Given the description of an element on the screen output the (x, y) to click on. 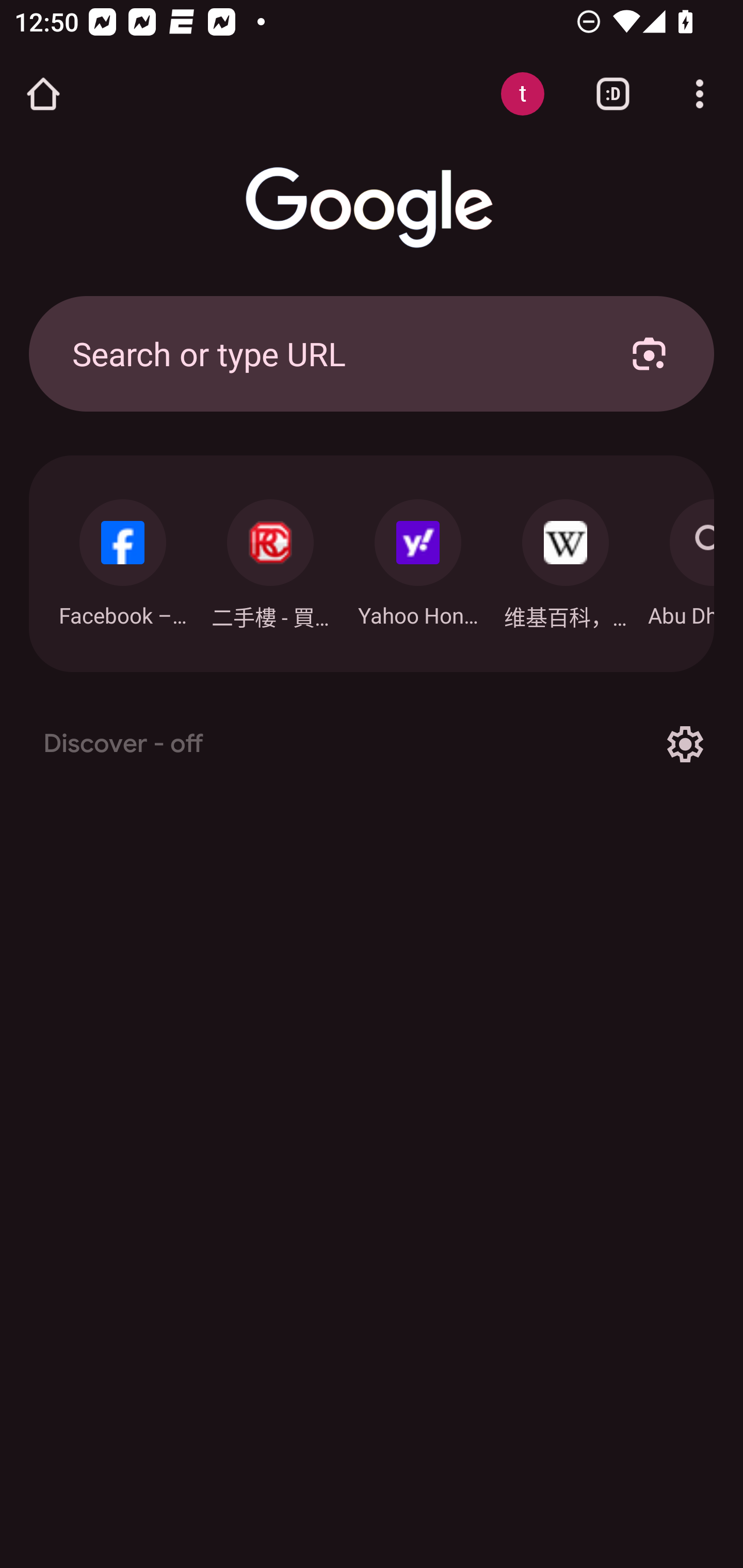
Open the home page (43, 93)
Switch or close tabs (612, 93)
Customize and control Google Chrome (699, 93)
Search or type URL (327, 353)
Search with your camera using Google Lens (648, 353)
Options for Discover (684, 743)
